Given the description of an element on the screen output the (x, y) to click on. 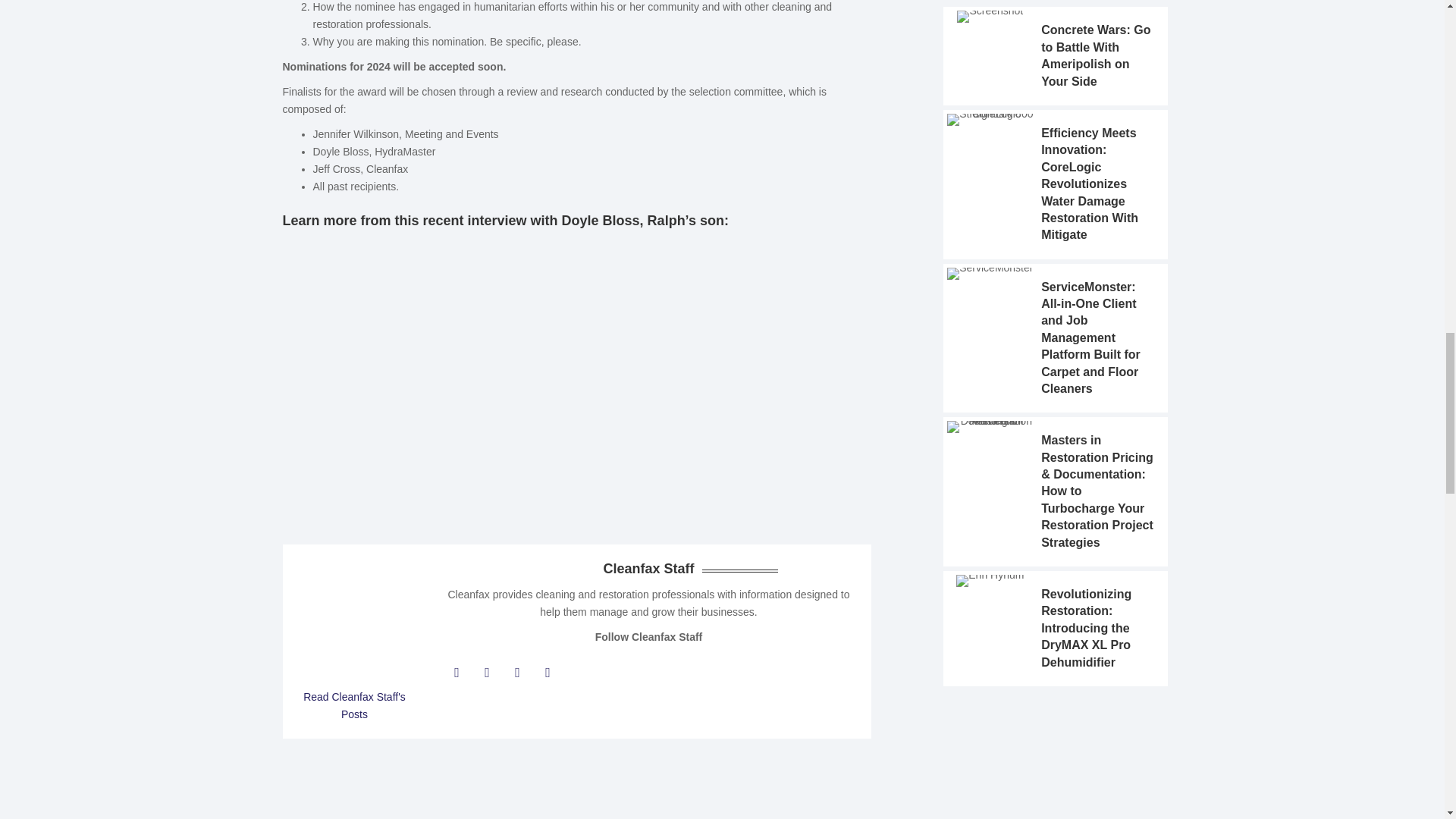
Cleanfax Staff (353, 705)
